Given the description of an element on the screen output the (x, y) to click on. 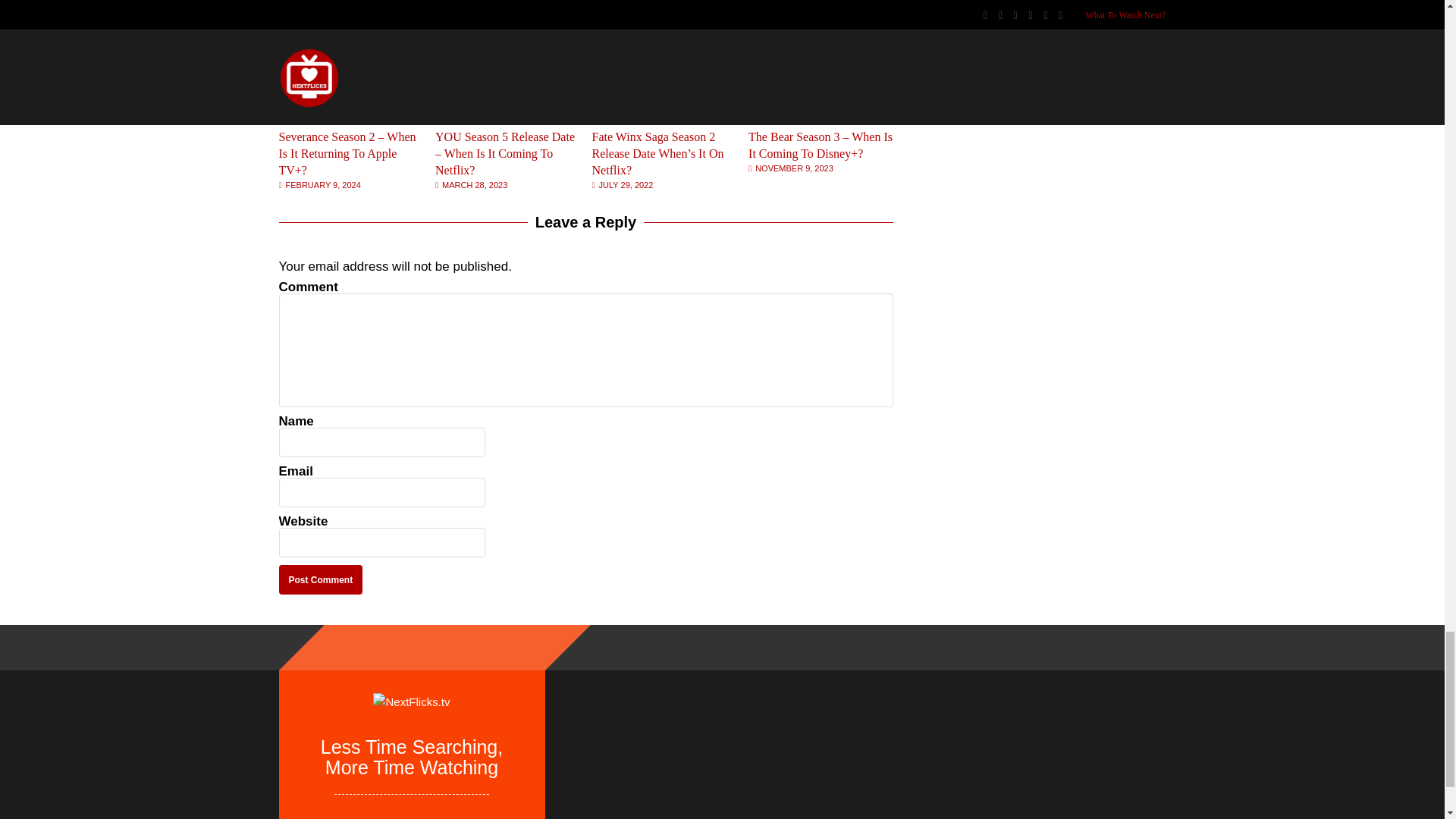
Post Comment (320, 579)
